Given the description of an element on the screen output the (x, y) to click on. 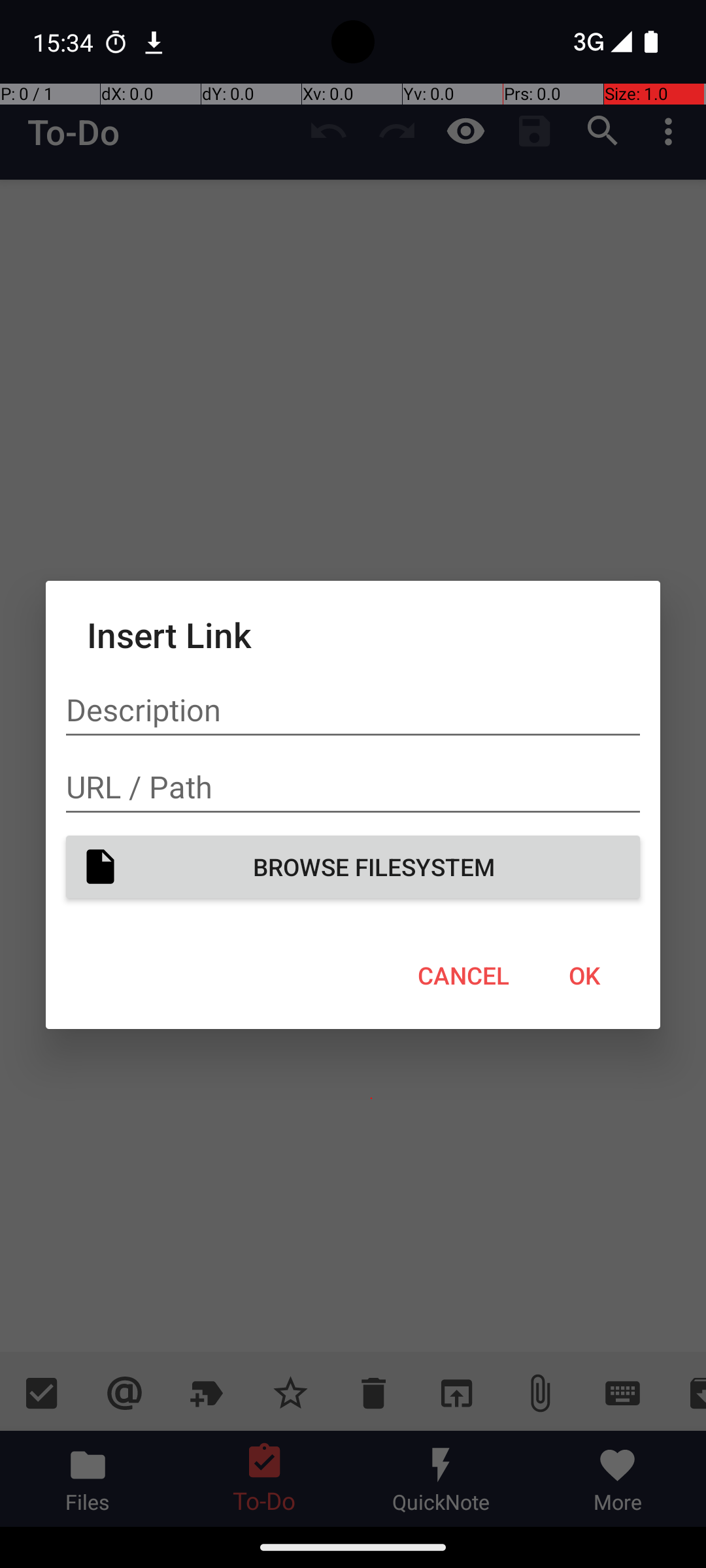
URL / Path Element type: android.widget.EditText (352, 786)
